Given the description of an element on the screen output the (x, y) to click on. 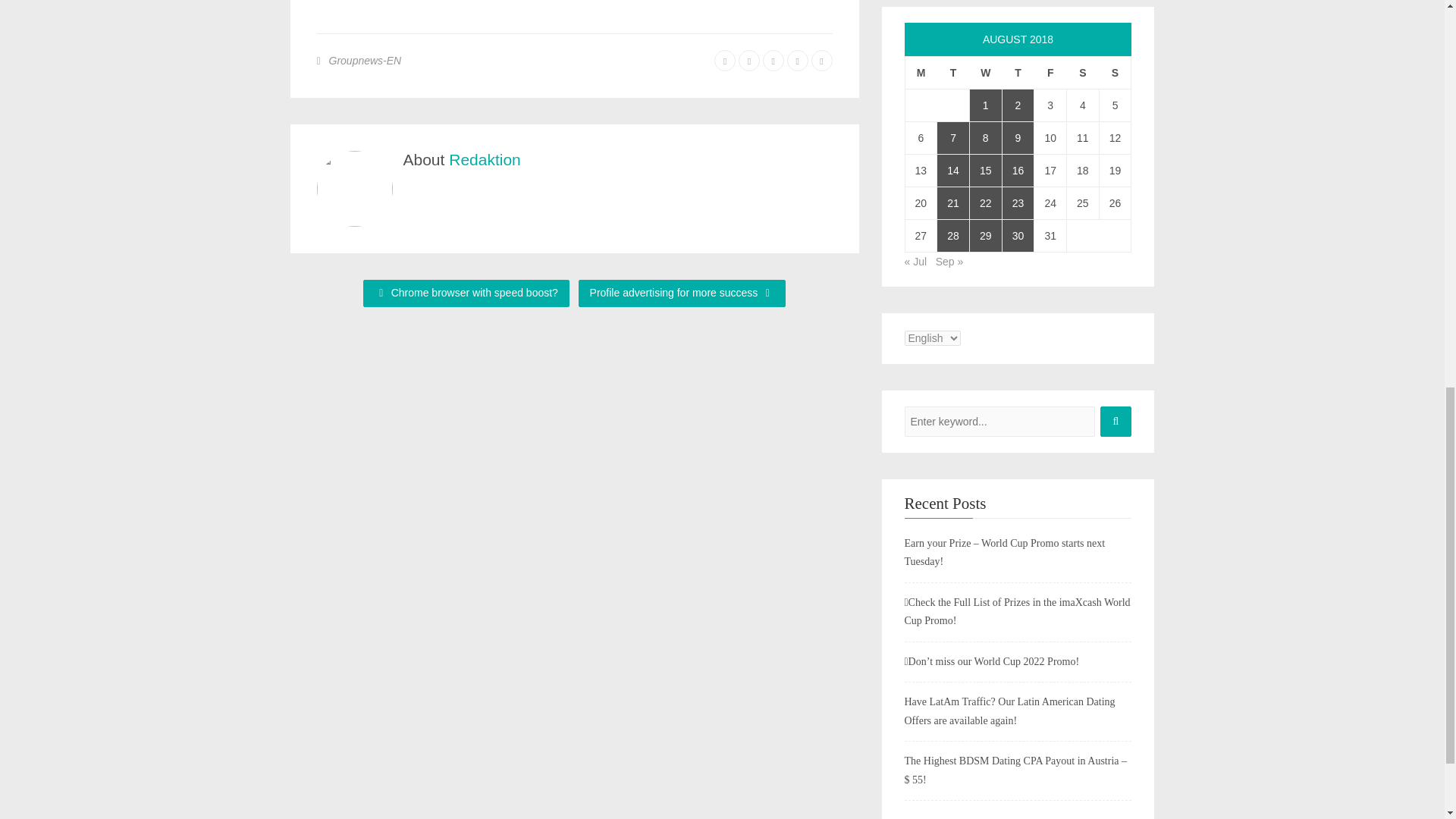
Redaktion (484, 159)
2 (1018, 105)
14 (953, 170)
Thursday (1017, 72)
Wednesday (985, 72)
9 (1018, 137)
1 (985, 105)
29 (985, 235)
15 (985, 170)
Tuesday (953, 72)
